Given the description of an element on the screen output the (x, y) to click on. 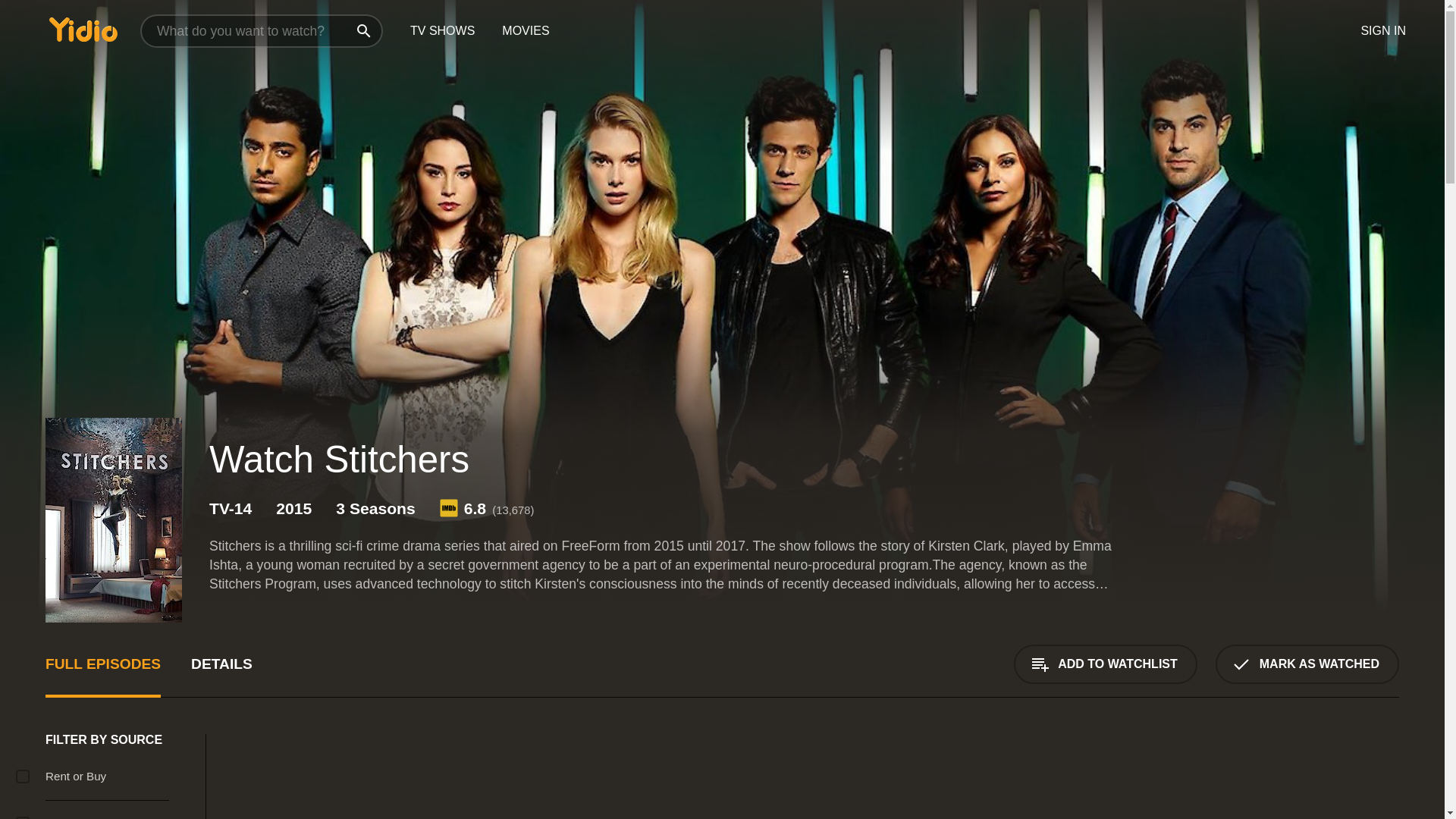
TV SHOWS (441, 31)
MOVIES (524, 31)
MARK AS WATCHED (1307, 663)
Yidio (82, 29)
Advertisement (1302, 776)
ADD TO WATCHLIST (1104, 663)
pay (22, 775)
Advertisement (698, 776)
